Given the description of an element on the screen output the (x, y) to click on. 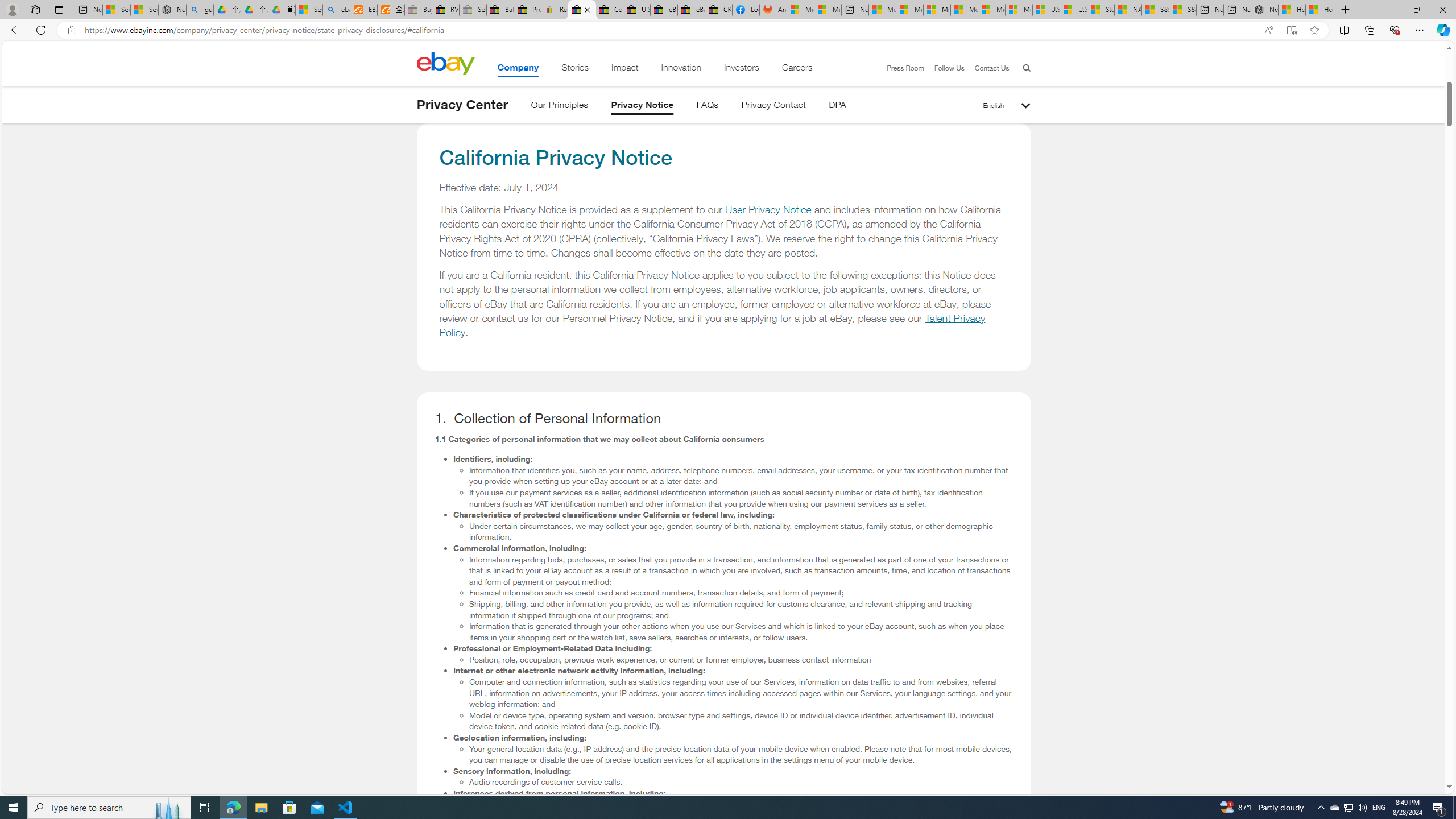
FAQs (707, 107)
Sell worldwide with eBay - Sleeping (473, 9)
U.S. State Privacy Disclosures - eBay Inc. (636, 9)
Privacy Contact (773, 107)
Privacy Center (462, 104)
